Given the description of an element on the screen output the (x, y) to click on. 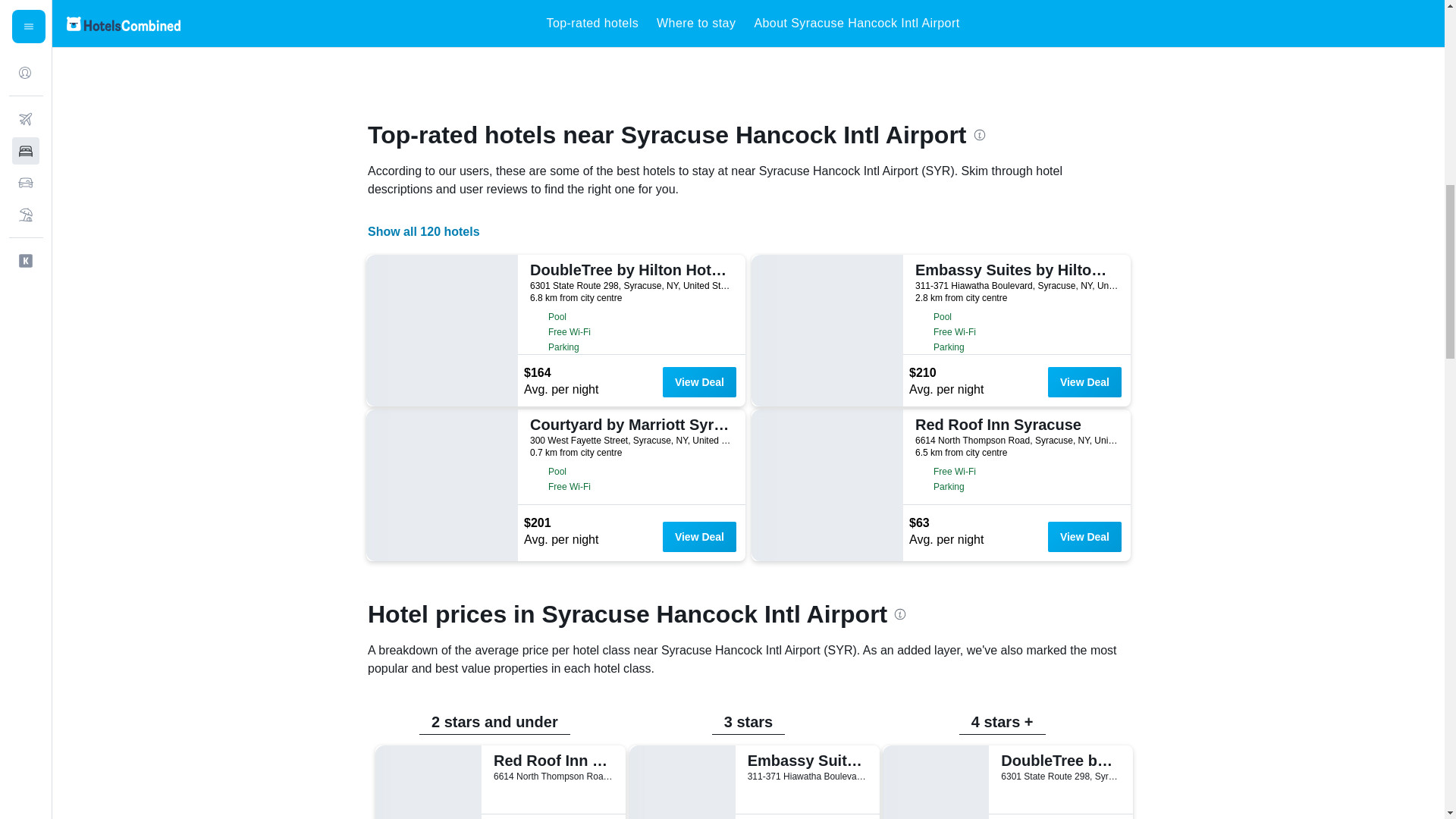
United States Hotels (445, 22)
View Deal (1084, 536)
Show all 120 hotels (424, 231)
View Deal (699, 536)
View Deal (1084, 381)
Syracuse Hotels (689, 22)
View Deal (699, 381)
Embassy Suites by Hilton Syracuse Destiny USA (1015, 270)
DoubleTree by Hilton Hotel Syracuse (629, 270)
Home (373, 22)
Red Roof Inn Syracuse (551, 760)
Red Roof Inn Syracuse (1015, 424)
Courtyard by Marriott Syracuse Downtown at Armory Square (629, 424)
New York Hotels (573, 22)
Embassy Suites by Hilton Syracuse Destiny USA (805, 760)
